Given the description of an element on the screen output the (x, y) to click on. 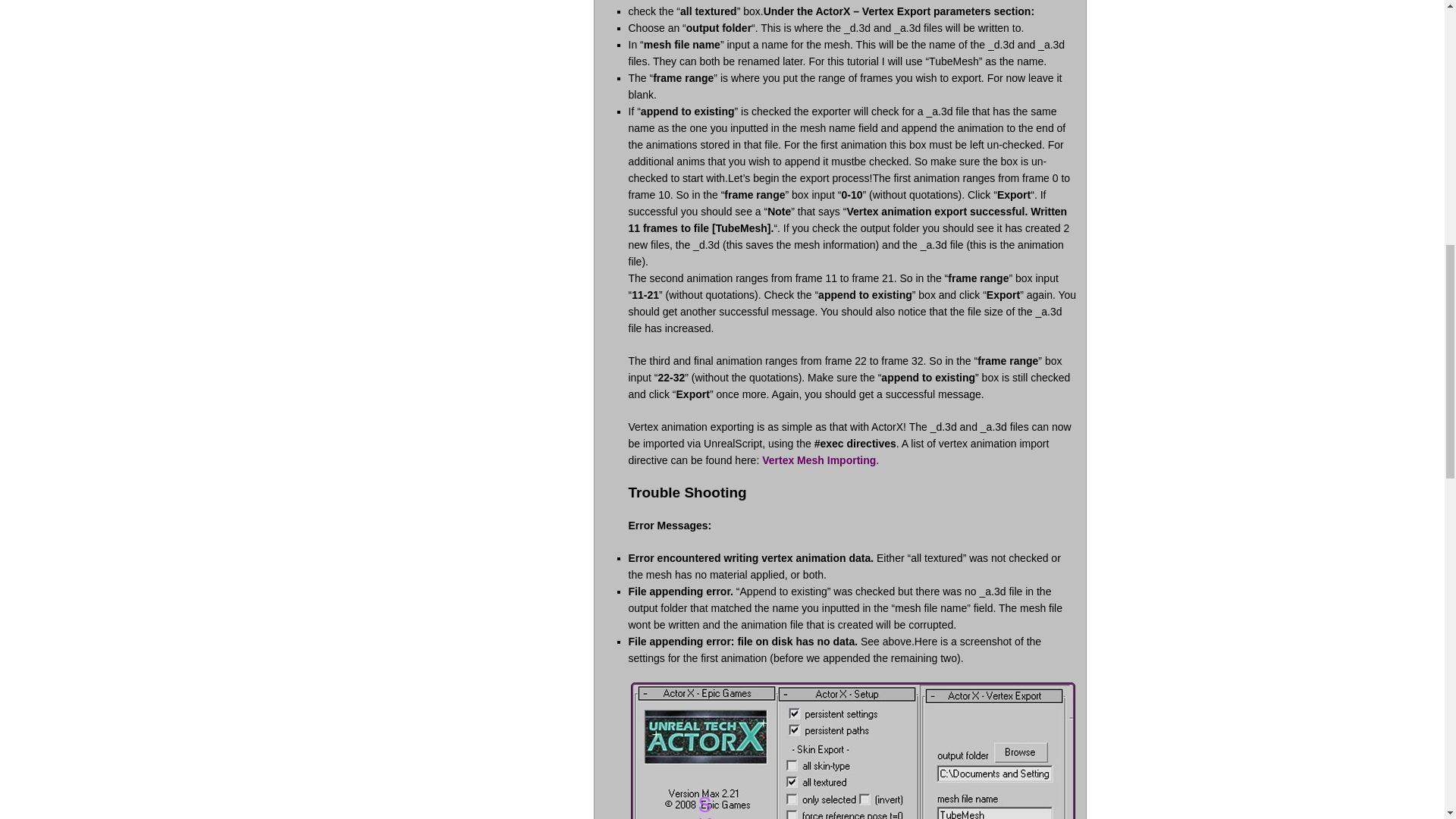
Vertex Mesh Importing (818, 460)
